Given the description of an element on the screen output the (x, y) to click on. 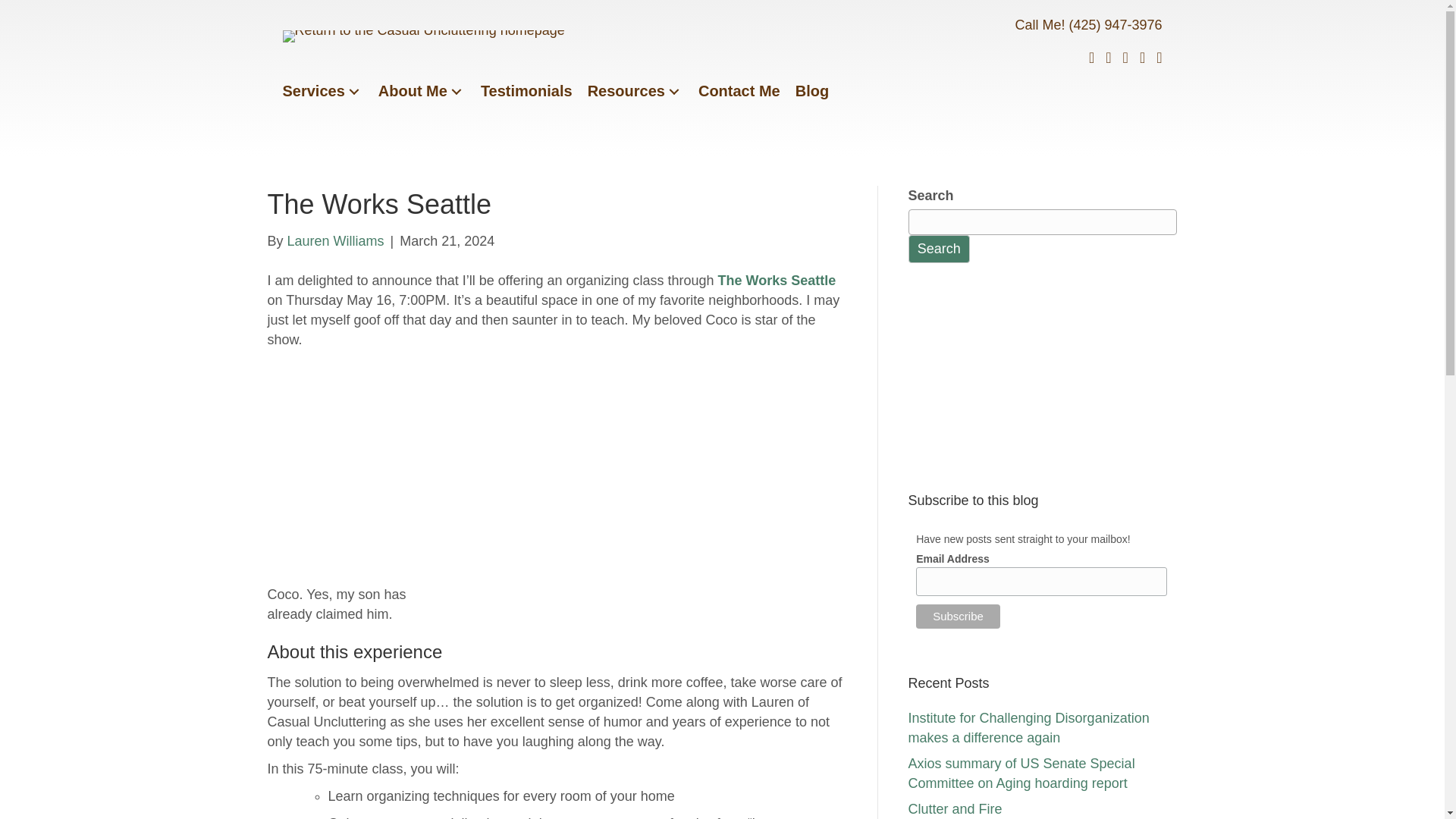
Services (322, 90)
Blog (811, 90)
About Me (422, 90)
Subscribe (957, 616)
Contact Me (738, 90)
Testimonials (526, 90)
The Works Seattle (776, 280)
Resources (634, 90)
Lauren Williams (335, 240)
